Given the description of an element on the screen output the (x, y) to click on. 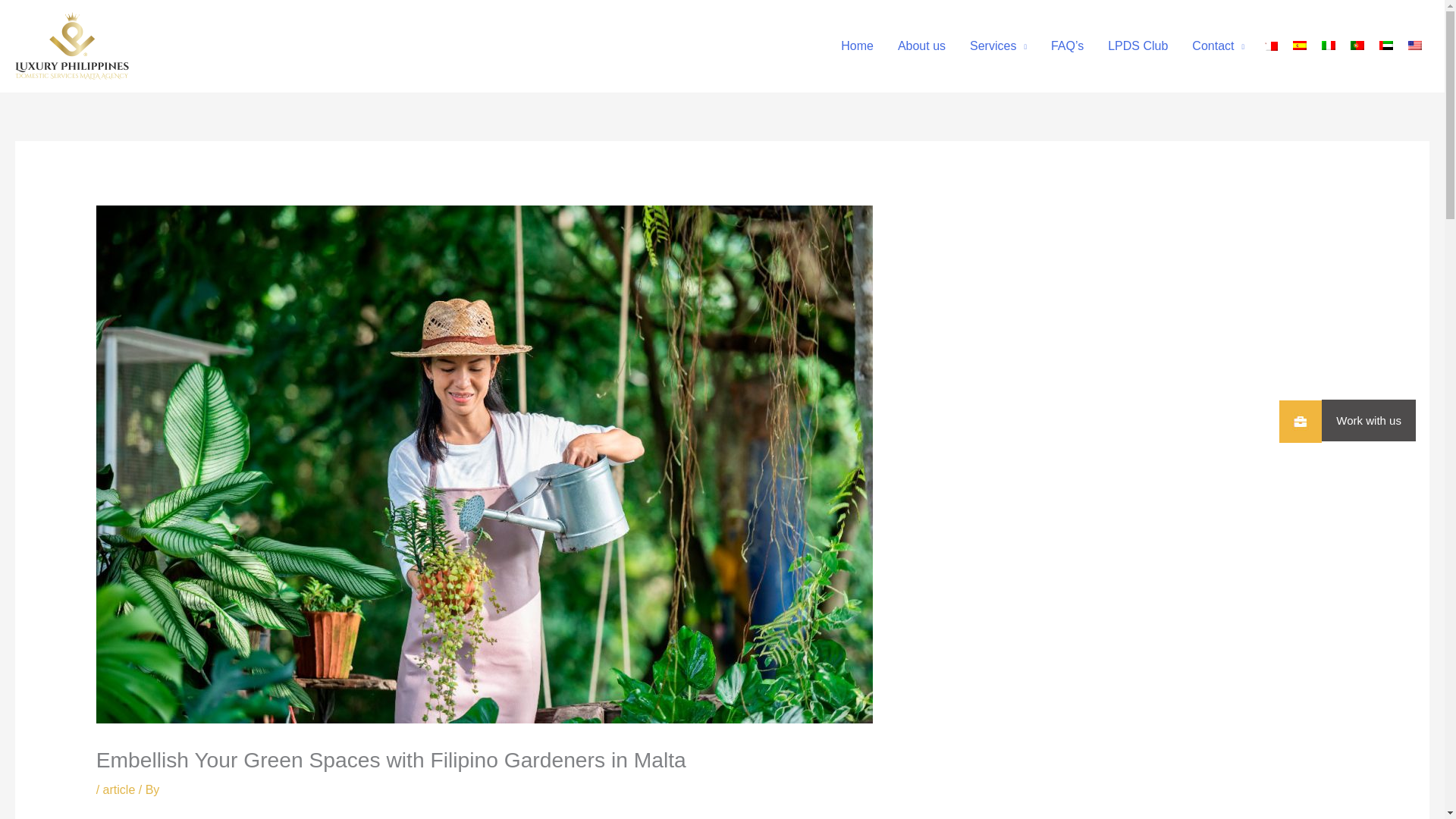
Home (856, 45)
About us (921, 45)
Services (998, 45)
LPDS Club (1137, 45)
Contact (1217, 45)
